Given the description of an element on the screen output the (x, y) to click on. 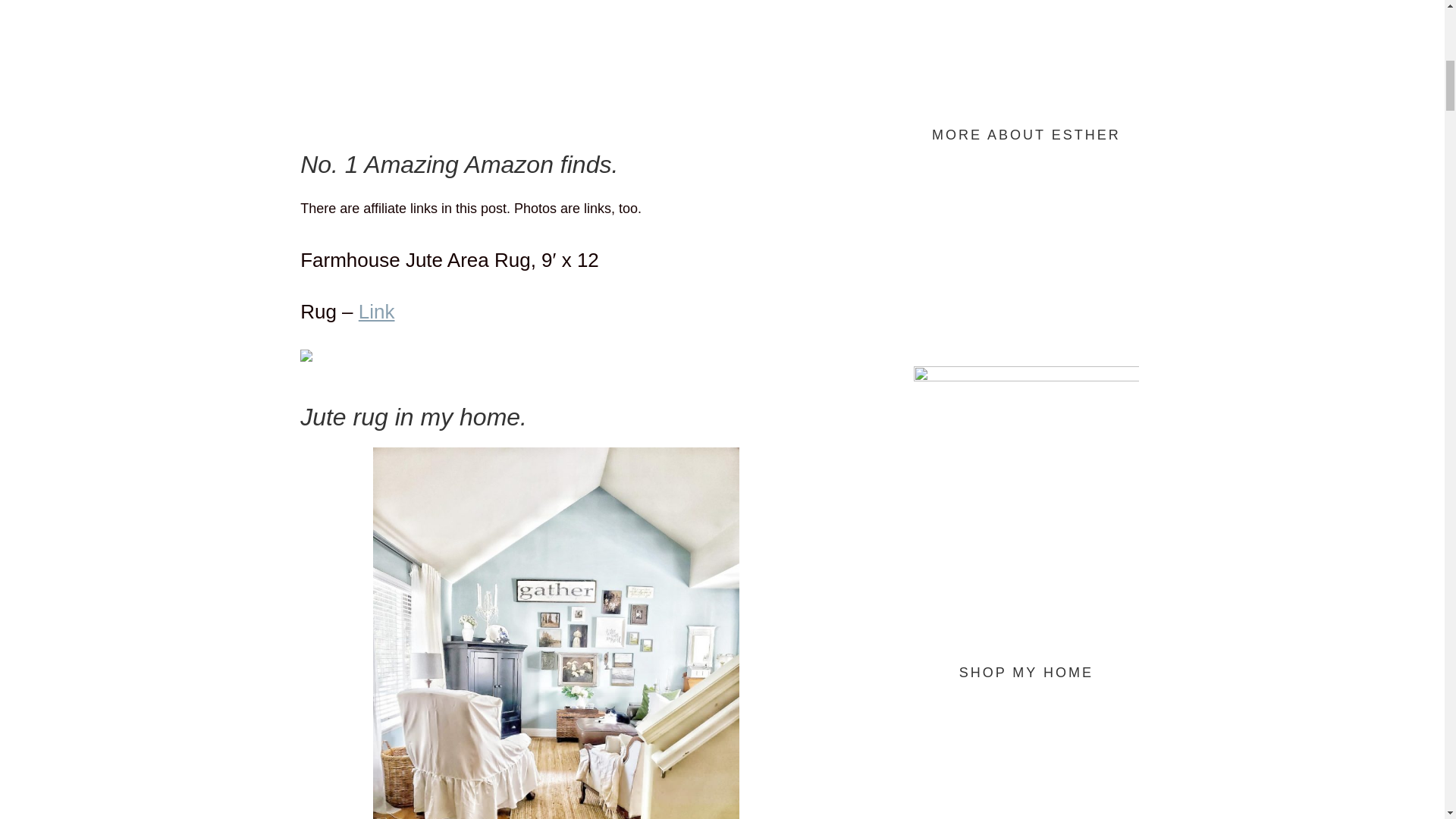
Link (376, 311)
